Given the description of an element on the screen output the (x, y) to click on. 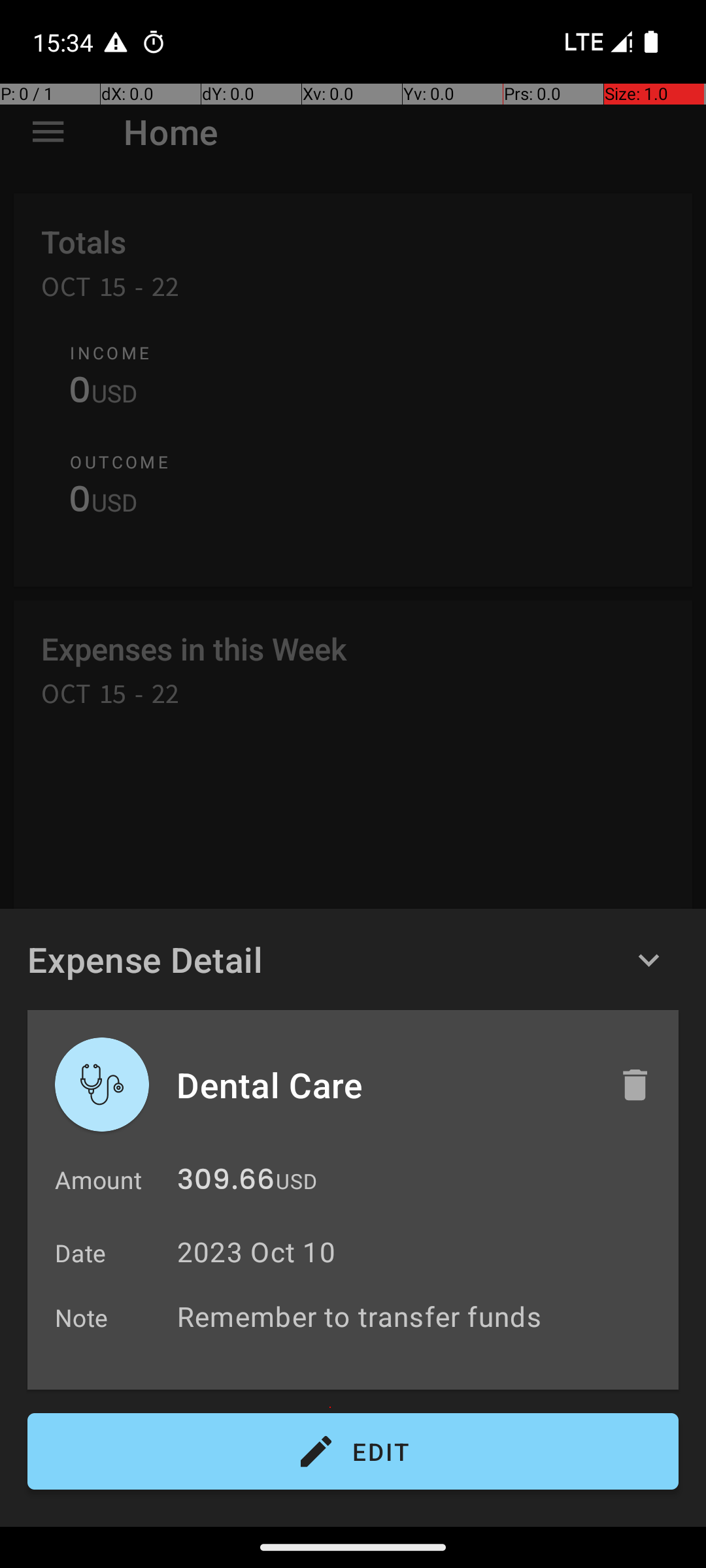
Dental Care Element type: android.widget.TextView (383, 1084)
309.66 Element type: android.widget.TextView (225, 1182)
